Given the description of an element on the screen output the (x, y) to click on. 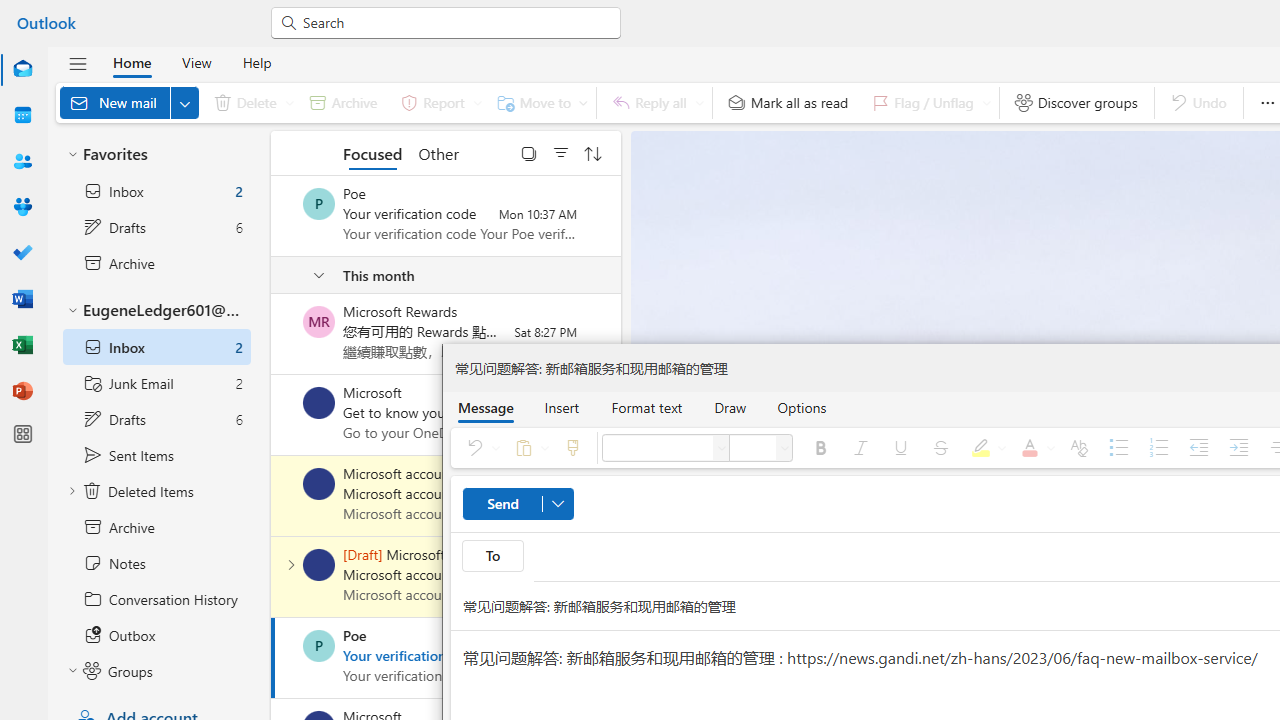
Groups (22, 206)
New mail (129, 102)
Mail (22, 69)
Expand conversation (291, 564)
Format painter (572, 447)
Other (438, 152)
Word (22, 299)
Help (256, 61)
Expand to see delete options (289, 102)
More send options (557, 503)
Numbering (1158, 447)
Move to (538, 102)
Undo (479, 447)
Expand to see more respond options (699, 102)
Font (721, 448)
